Given the description of an element on the screen output the (x, y) to click on. 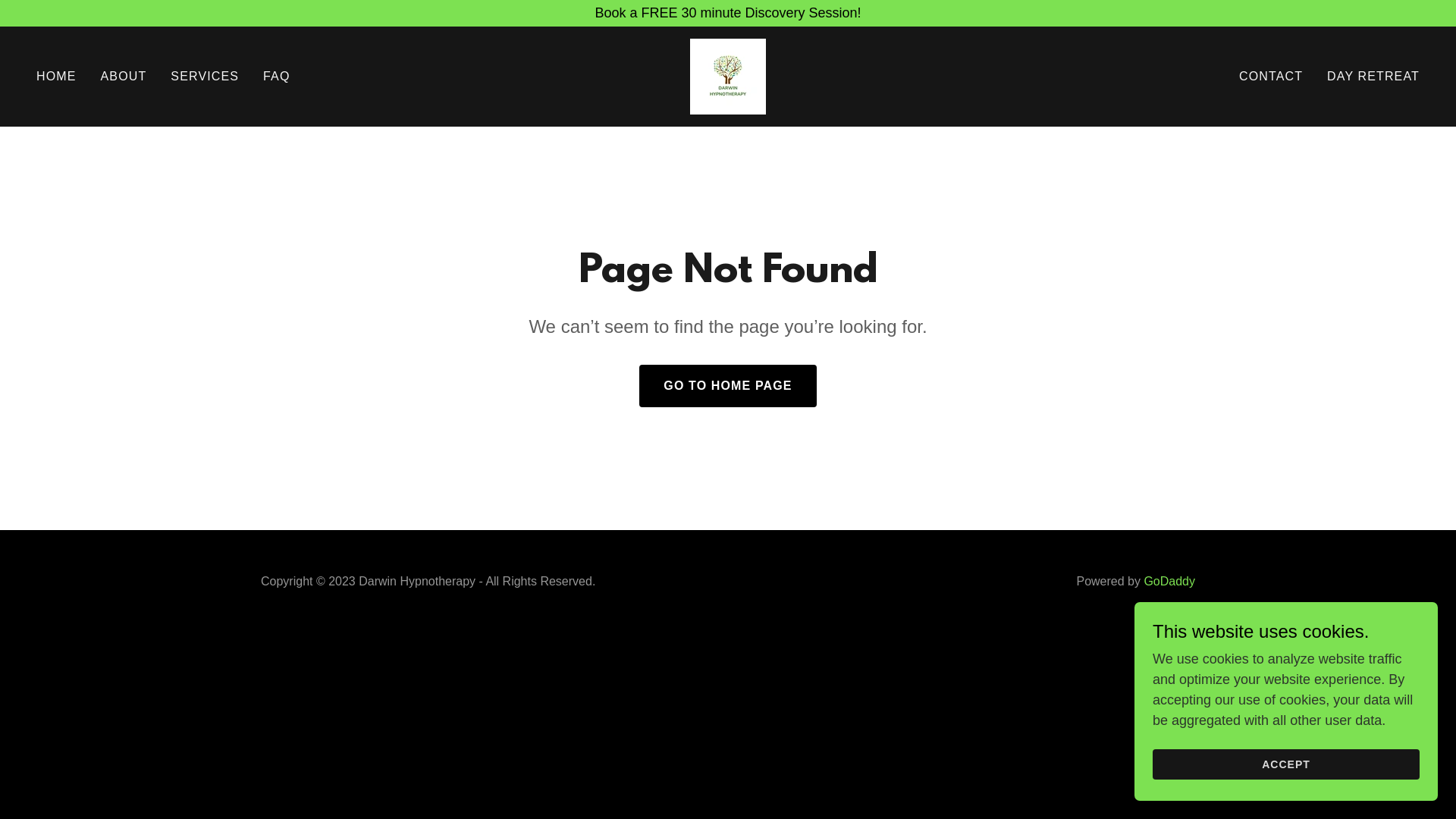
GoDaddy Element type: text (1169, 580)
ACCEPT Element type: text (1285, 764)
Darwin Hypnotherapy Element type: hover (727, 75)
FAQ Element type: text (276, 76)
ABOUT Element type: text (123, 76)
HOME Element type: text (56, 76)
GO TO HOME PAGE Element type: text (727, 385)
DAY RETREAT Element type: text (1373, 76)
CONTACT Element type: text (1270, 76)
SERVICES Element type: text (204, 76)
